Given the description of an element on the screen output the (x, y) to click on. 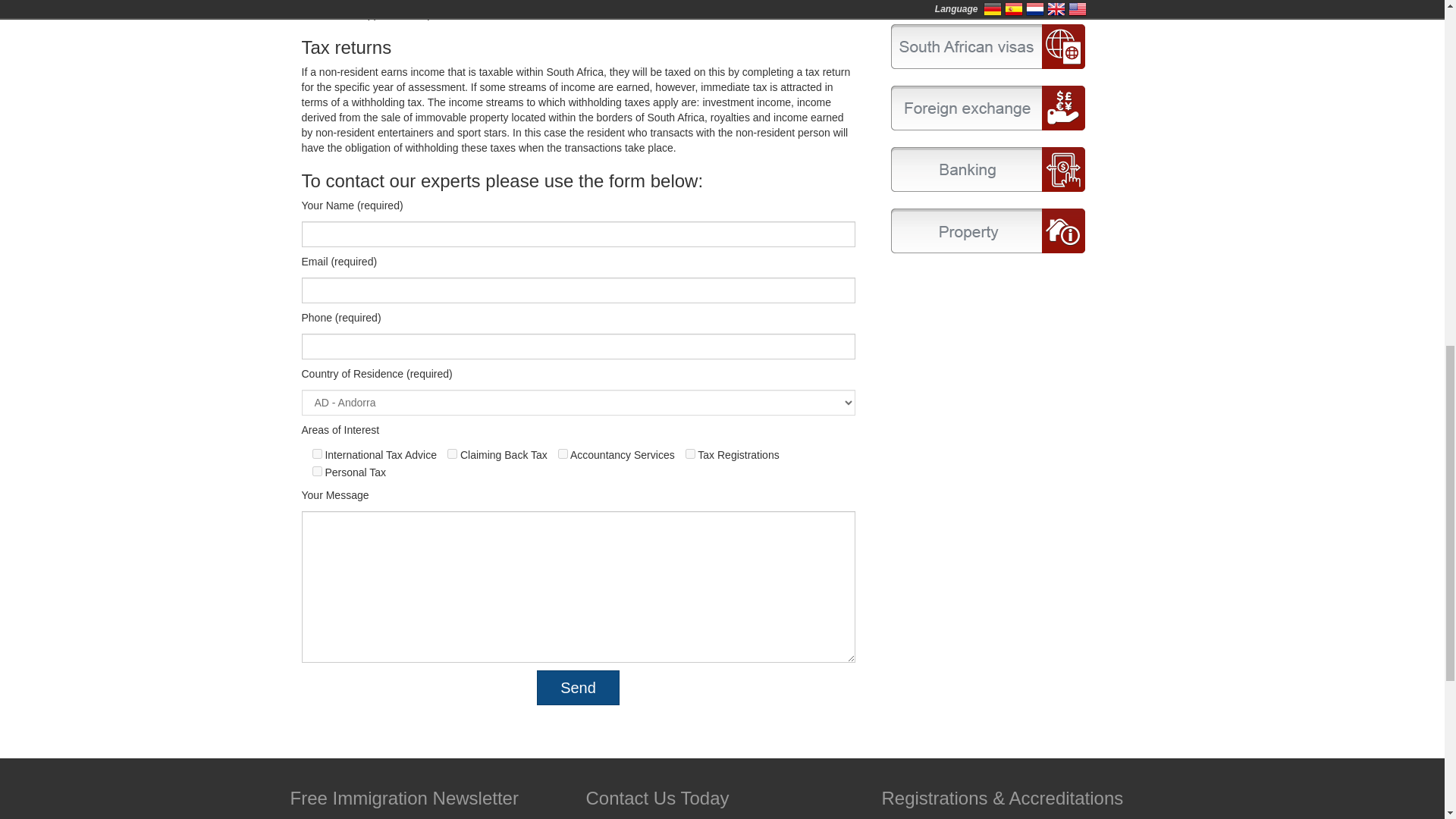
Claiming Back Tax (451, 453)
Send (578, 687)
Send (578, 687)
International Tax Advice (317, 453)
Tax Registrations (690, 453)
Accountancy Services (562, 453)
Personal Tax (317, 470)
